Given the description of an element on the screen output the (x, y) to click on. 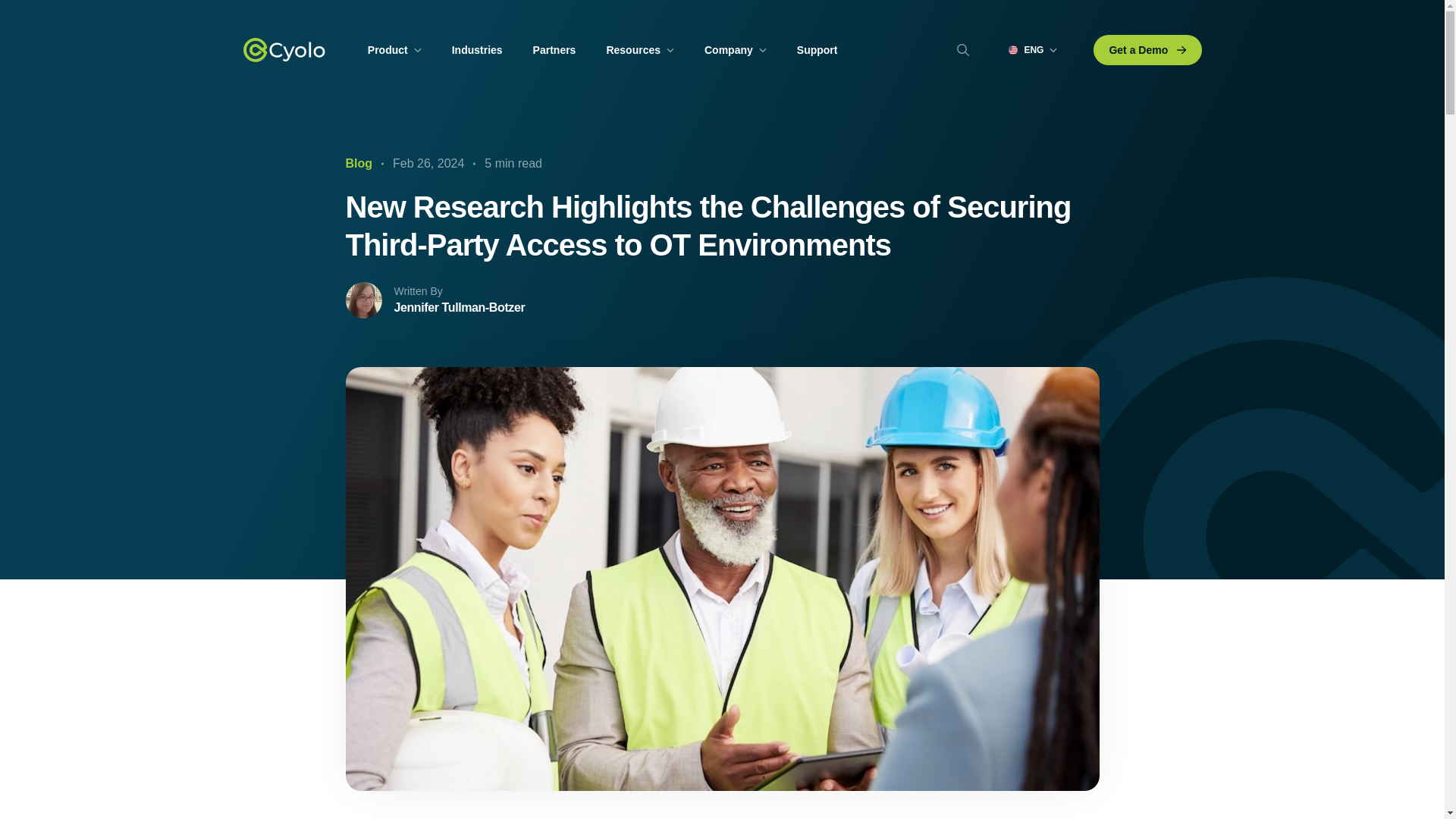
Support (817, 49)
Resources (639, 49)
Product (394, 49)
Partners (554, 49)
Get a Demo (1147, 50)
Industries (476, 49)
Company (735, 49)
ENG (1035, 49)
Toggle Search (962, 50)
